Given the description of an element on the screen output the (x, y) to click on. 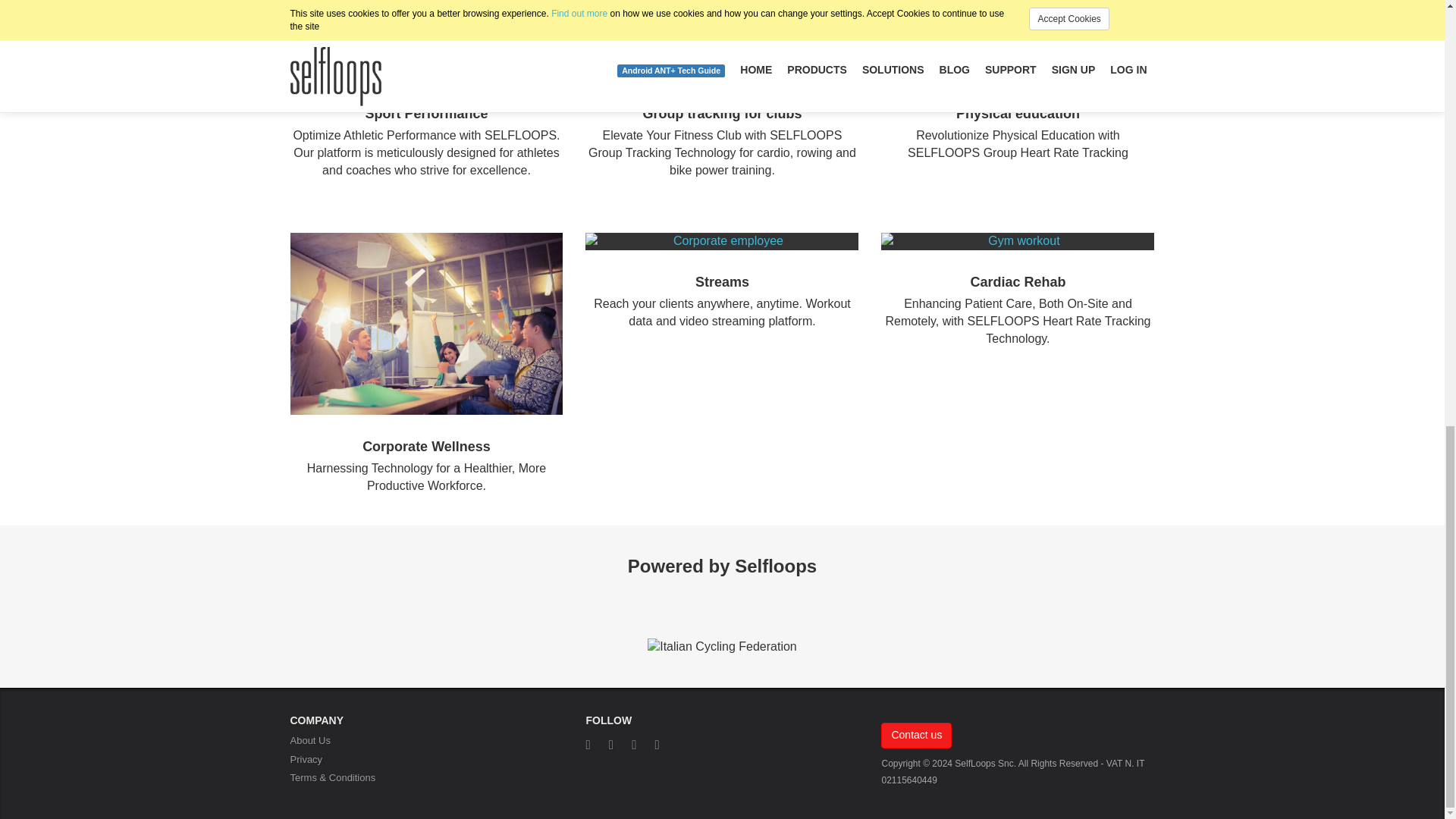
About Us (309, 740)
Privacy (305, 758)
Contact us (916, 735)
